Given the description of an element on the screen output the (x, y) to click on. 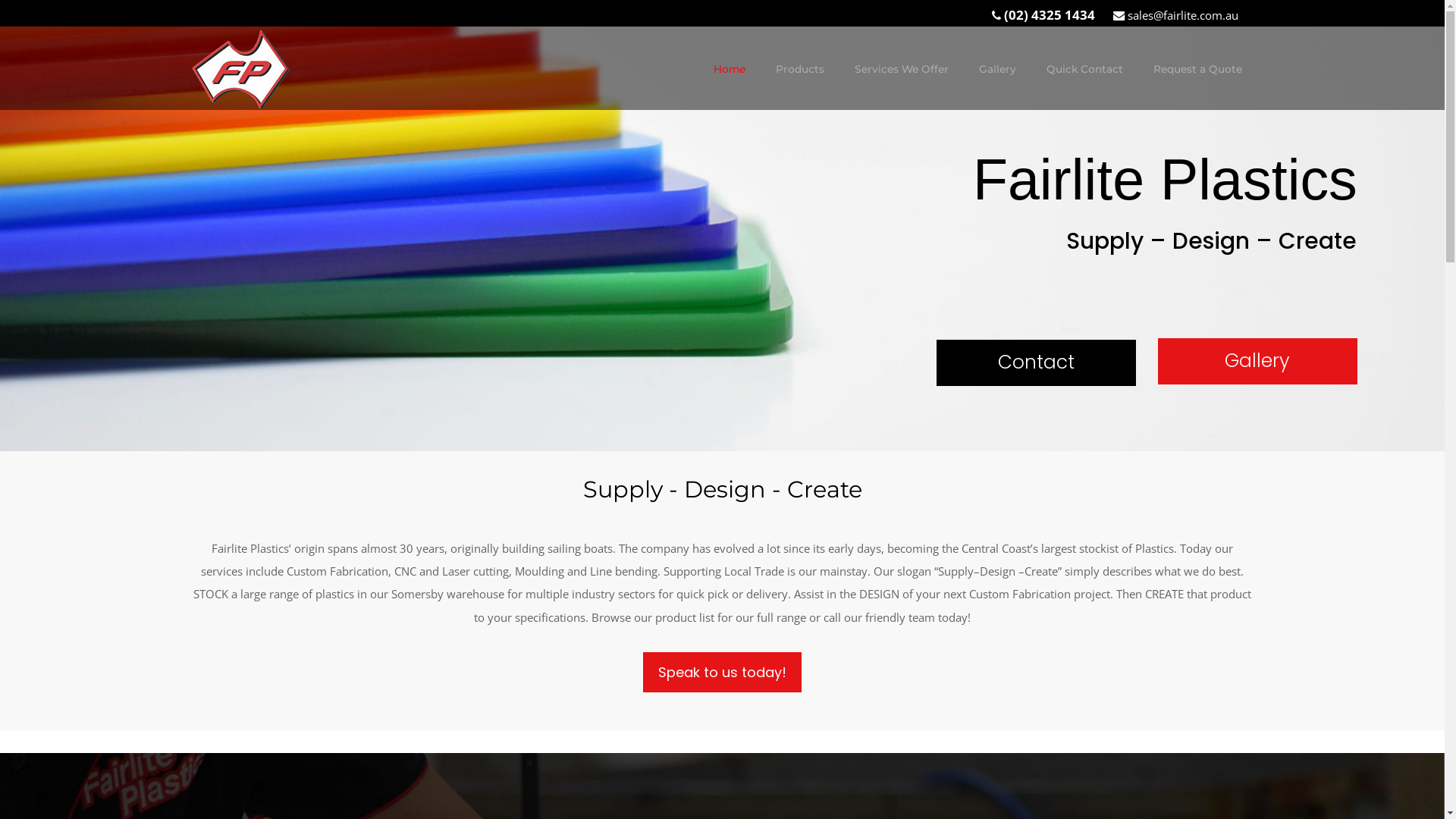
sales@fairlite.com.au Element type: text (1180, 14)
Gallery Element type: text (996, 68)
Request a Quote Element type: text (1196, 68)
Home Element type: text (728, 68)
Home Element type: text (728, 68)
Gallery Element type: text (996, 68)
Quick Contact Element type: text (1084, 68)
Products Element type: text (799, 68)
Products Element type: text (799, 68)
Services We Offer Element type: text (900, 68)
(02) 4325 1434 Element type: text (1049, 14)
Request a Quote Element type: text (1196, 68)
Services We Offer Element type: text (900, 68)
Quick Contact Element type: text (1084, 68)
Speak to us today! Element type: text (722, 672)
